Given the description of an element on the screen output the (x, y) to click on. 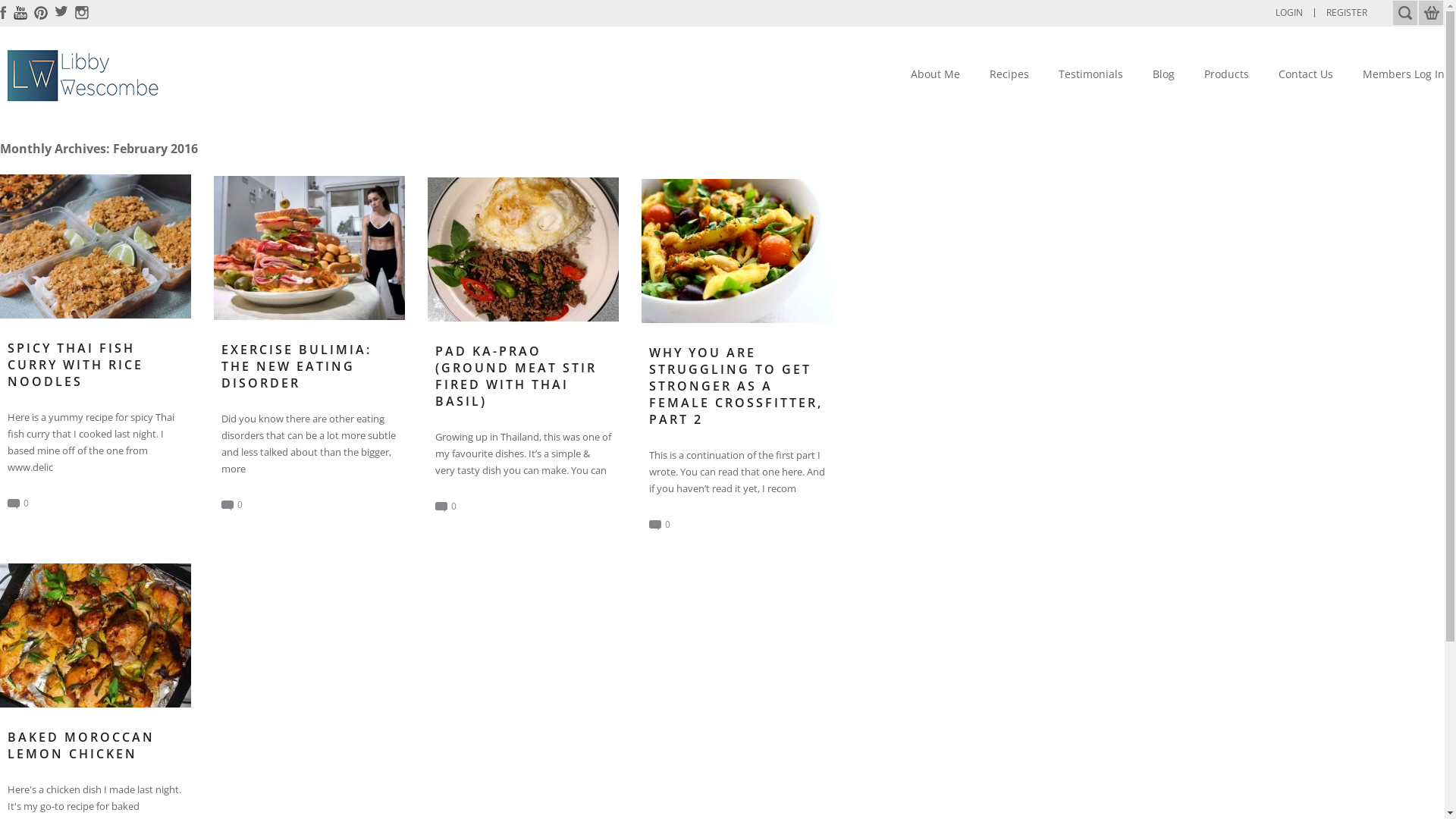
BAKED MOROCCAN LEMON CHICKEN Element type: text (95, 745)
0 Element type: text (231, 504)
SPICY THAI FISH CURRY WITH RICE NOODLES Element type: text (95, 364)
LOGIN Element type: text (1288, 12)
Testimonials Element type: text (1090, 73)
REGISTER Element type: text (1346, 12)
EXERCISE BULIMIA: THE NEW EATING DISORDER Element type: text (309, 366)
Products Element type: text (1226, 73)
0 Element type: text (445, 505)
Members Log In Element type: text (1403, 73)
0 Element type: text (659, 523)
Contact Us Element type: text (1305, 73)
Recipes Element type: text (1009, 73)
0 Element type: text (17, 502)
About Me Element type: text (935, 73)
Blog Element type: text (1163, 73)
PAD KA-PRAO (GROUND MEAT STIR FIRED WITH THAI BASIL) Element type: text (523, 375)
